Given the description of an element on the screen output the (x, y) to click on. 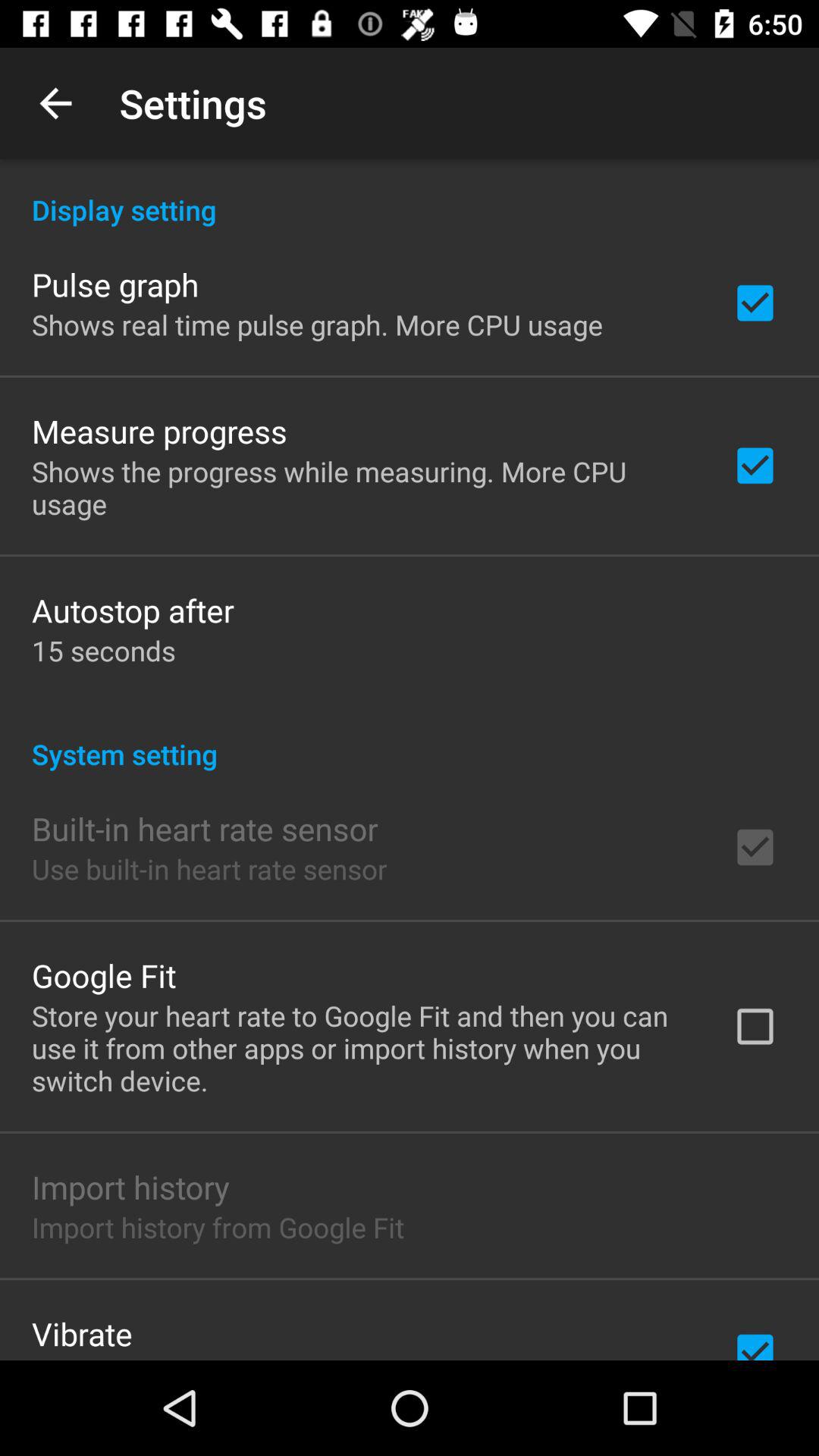
open 15 seconds item (103, 650)
